Given the description of an element on the screen output the (x, y) to click on. 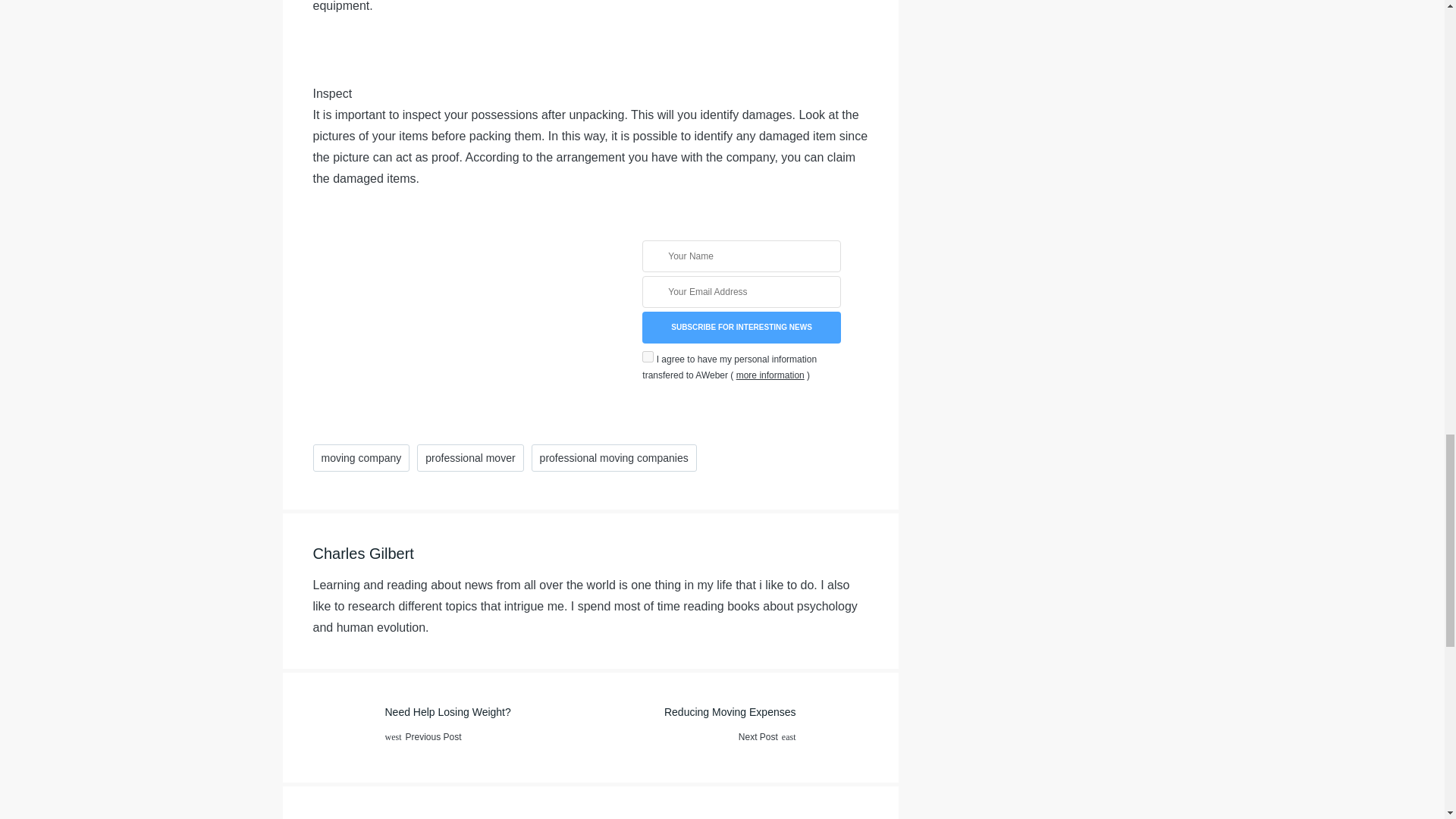
Subscribe for interesting News (741, 327)
moving company (361, 458)
professional mover (469, 458)
professional moving companies (614, 458)
more information (770, 375)
on (647, 356)
Subscribe for interesting News (451, 727)
Charles Gilbert (728, 727)
Posts by Charles Gilbert (741, 327)
